Given the description of an element on the screen output the (x, y) to click on. 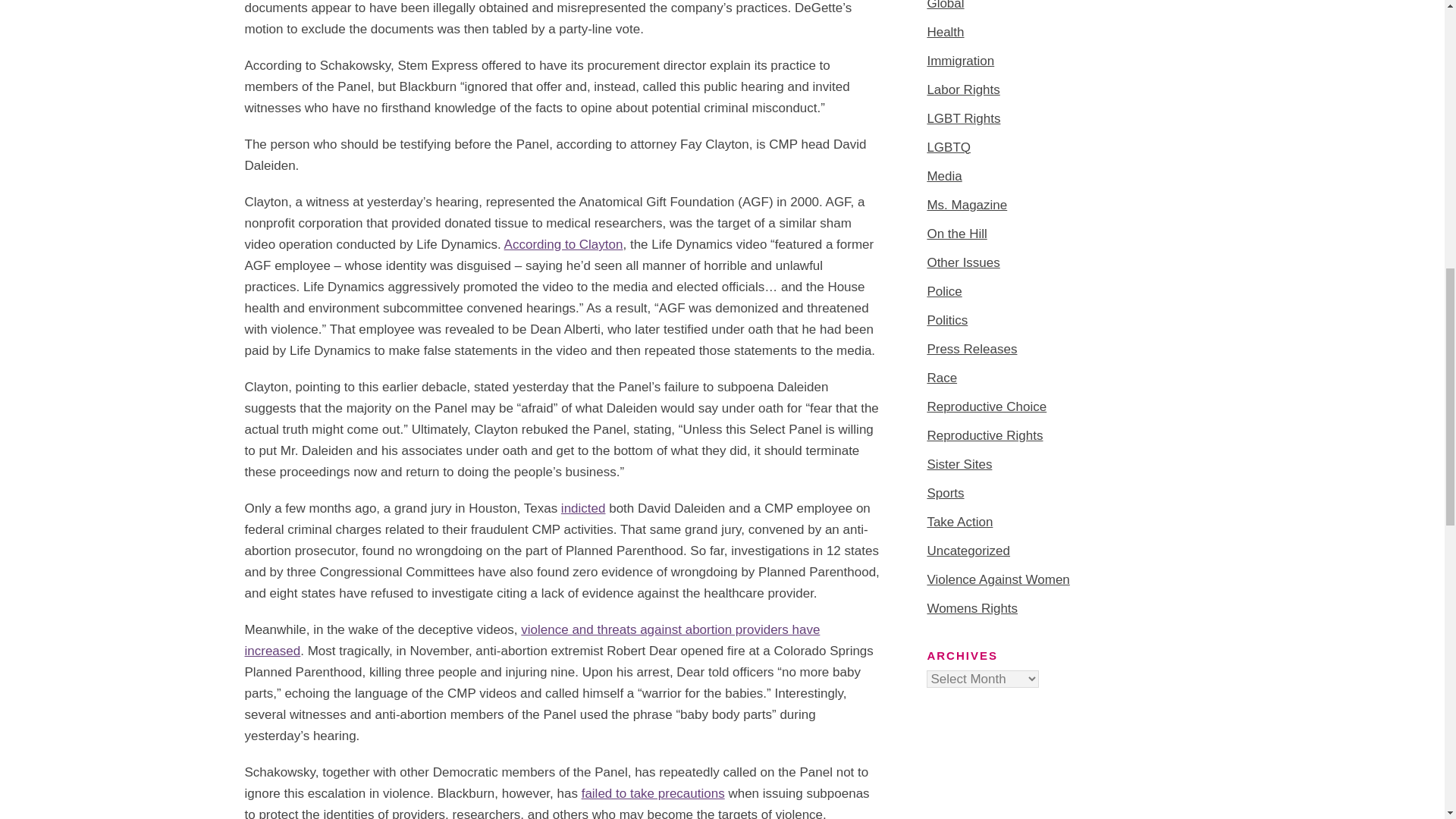
According to Clayton (563, 244)
failed to take precautions (652, 793)
indicted (582, 508)
